Given the description of an element on the screen output the (x, y) to click on. 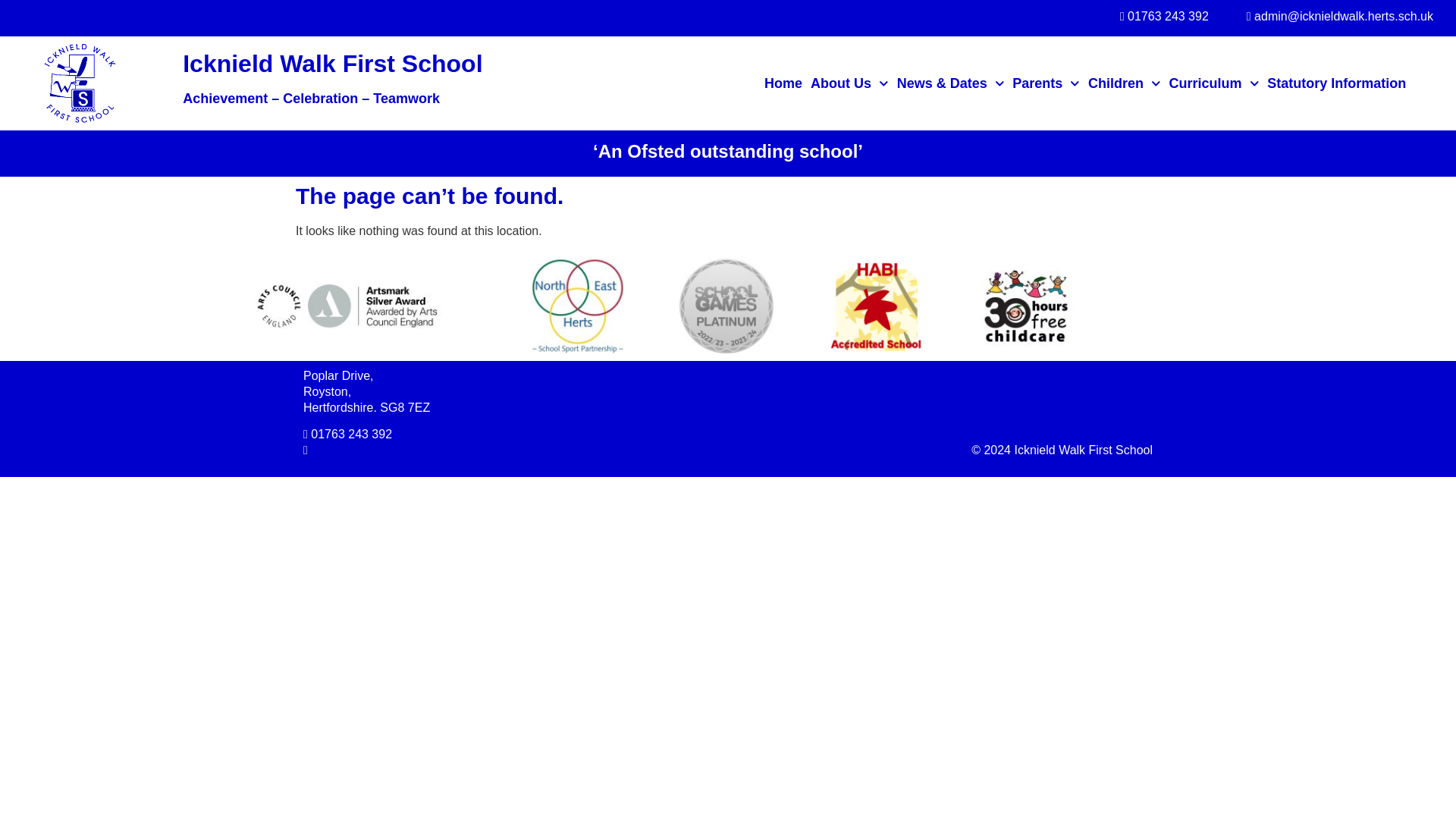
Icknield Walk First School (332, 62)
Home (783, 83)
About Us (849, 83)
Children (1123, 83)
Parents (1046, 83)
